Given the description of an element on the screen output the (x, y) to click on. 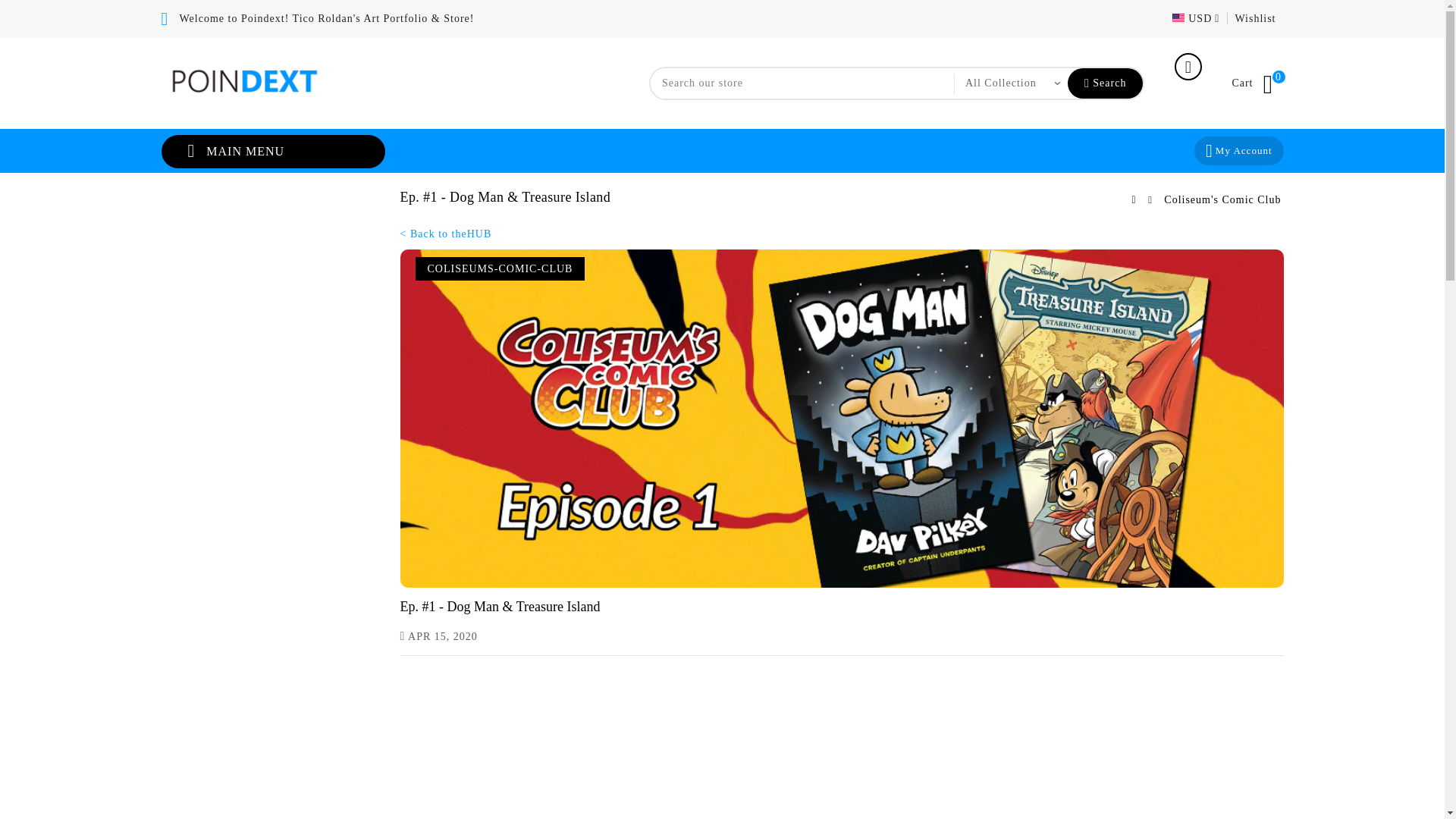
COLISEUMS-COMIC-CLUB (499, 268)
Wishlist (1254, 18)
My Account (1256, 82)
USD (1237, 150)
Wishlist (1195, 18)
Coliseum'S Comic Club (1254, 18)
Search (1222, 199)
Back to theHUB (1104, 82)
Back to the frontpage (446, 233)
